Given the description of an element on the screen output the (x, y) to click on. 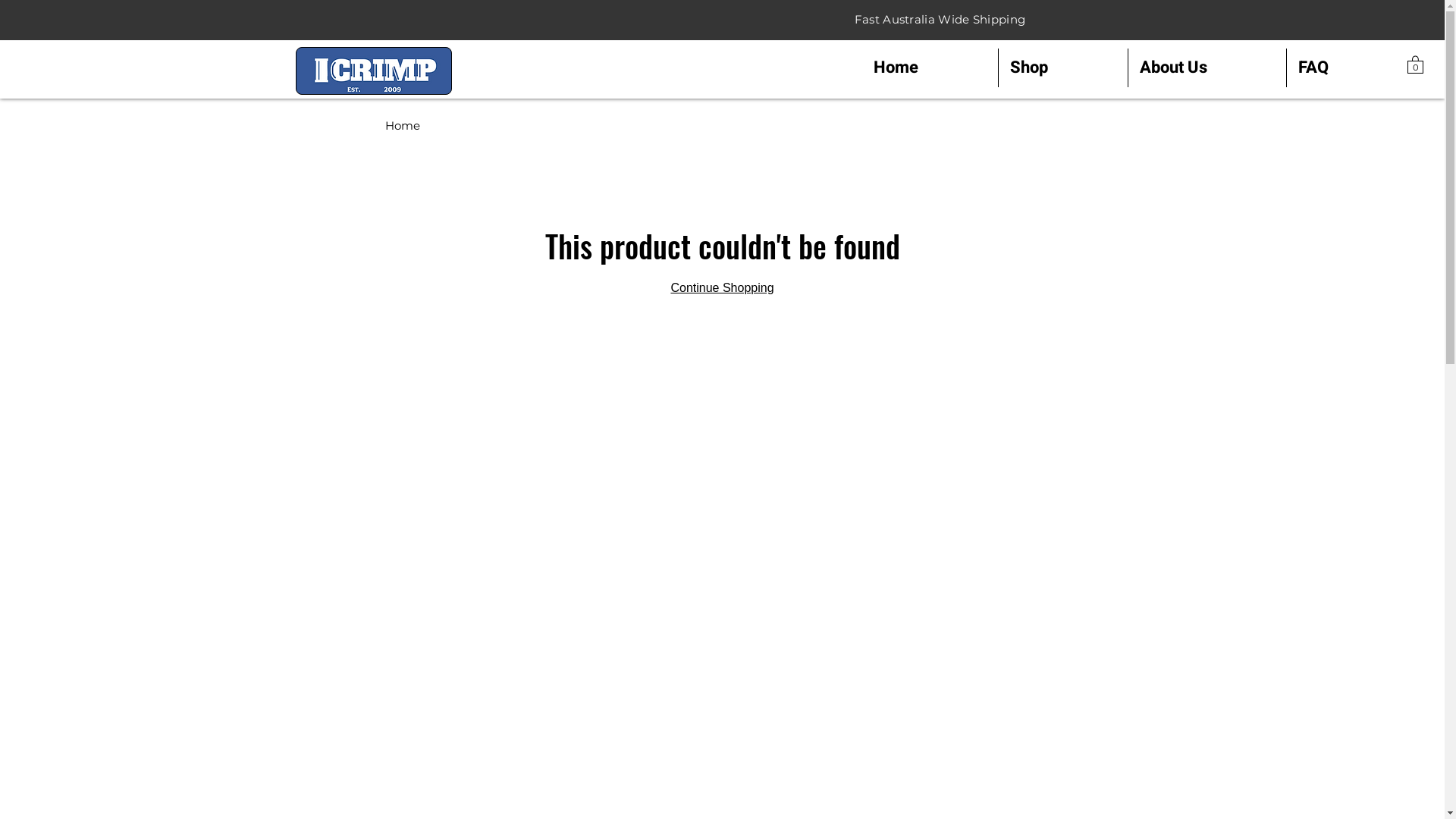
Continue Shopping Element type: text (721, 287)
Home Element type: text (929, 67)
Shop Element type: text (1062, 67)
FAQ Element type: text (1346, 67)
About Us Element type: text (1207, 67)
0 Element type: text (1415, 63)
Home Element type: text (402, 125)
